Given the description of an element on the screen output the (x, y) to click on. 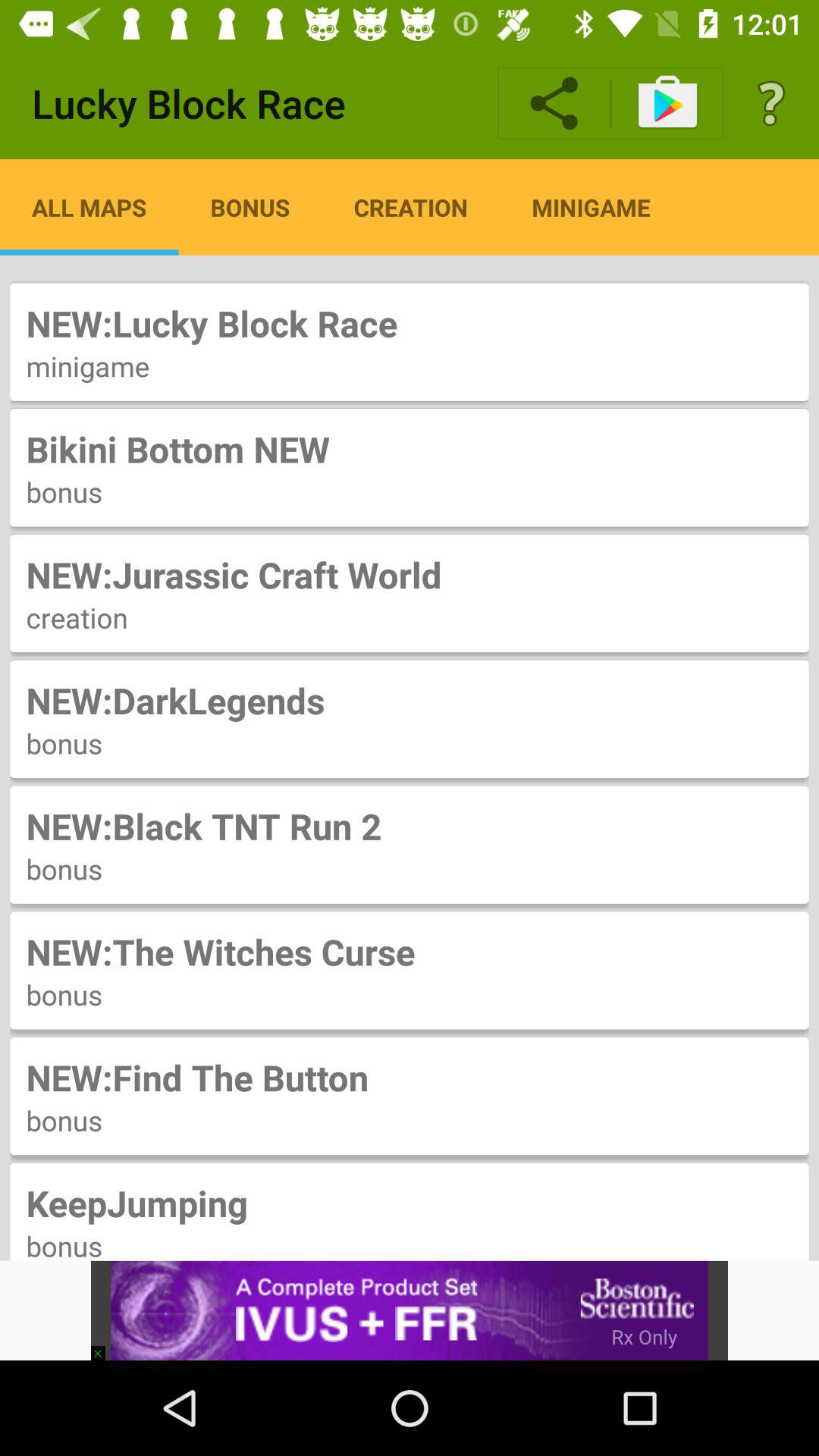
turn off icon below the bonus (105, 1346)
